Given the description of an element on the screen output the (x, y) to click on. 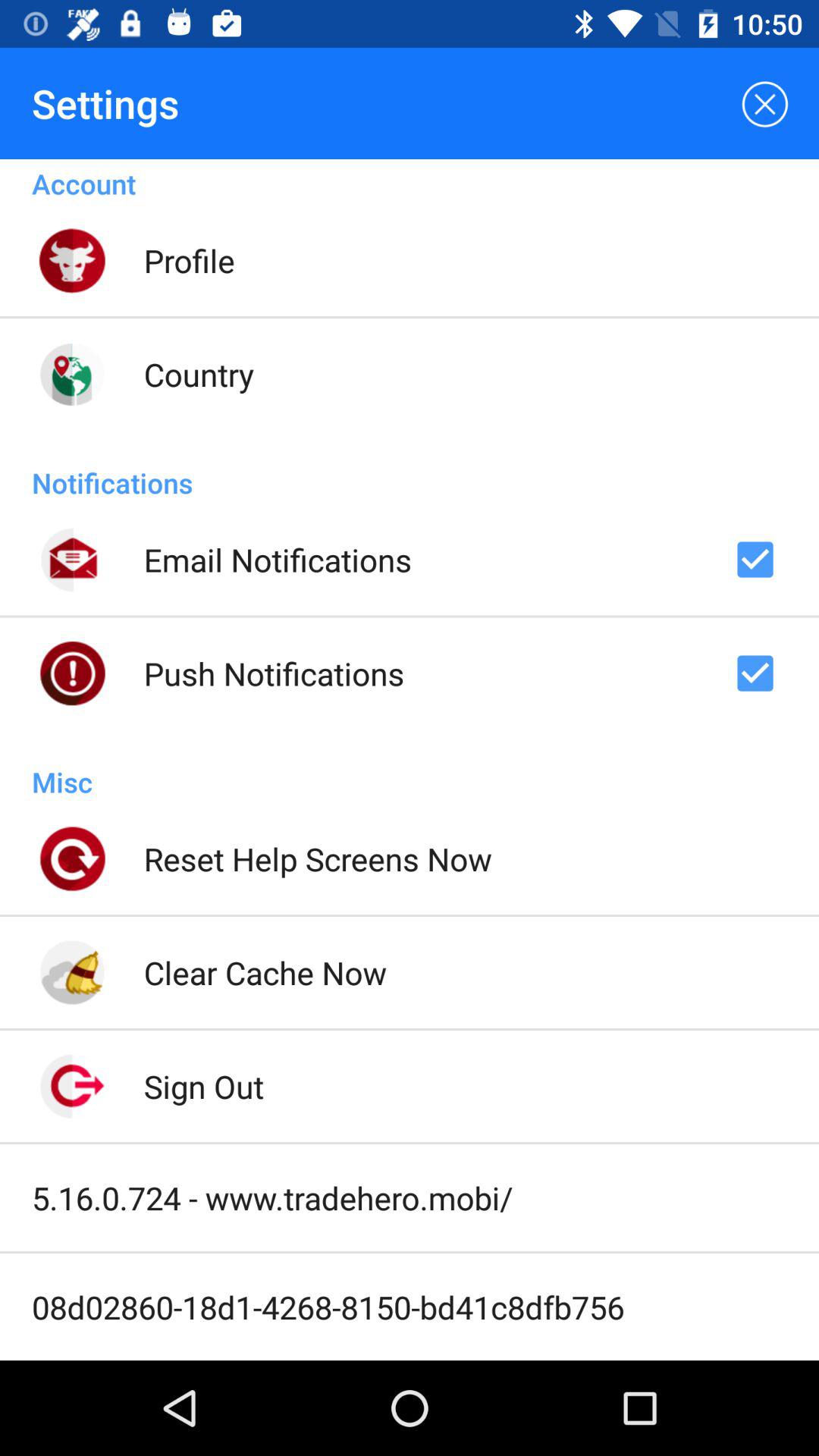
select item above country icon (188, 260)
